Given the description of an element on the screen output the (x, y) to click on. 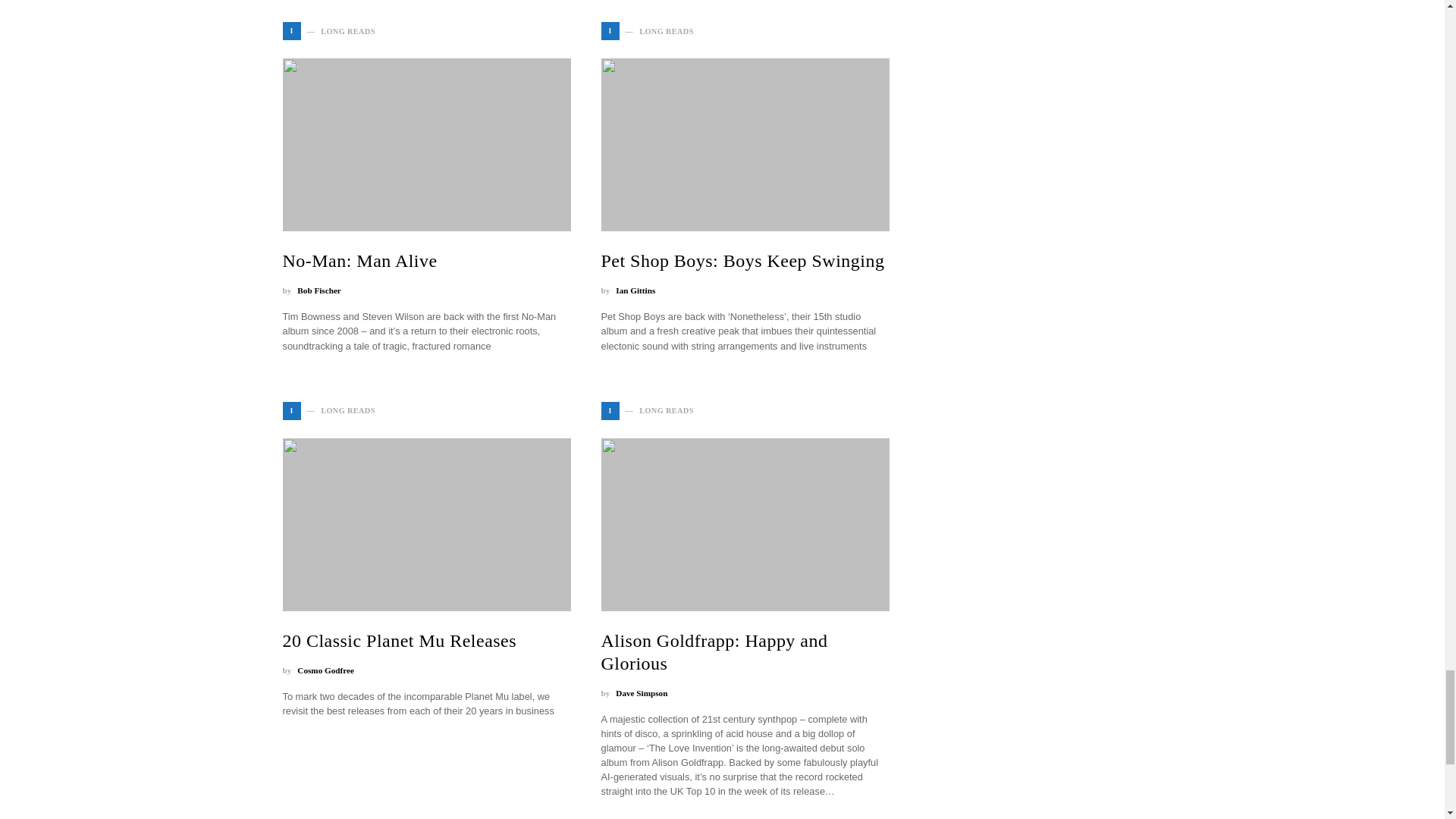
View all posts by Bob Fischer (318, 290)
View all posts by Dave Simpson (640, 693)
View all posts by Ian Gittins (635, 290)
View all posts by Cosmo Godfree (325, 670)
